Given the description of an element on the screen output the (x, y) to click on. 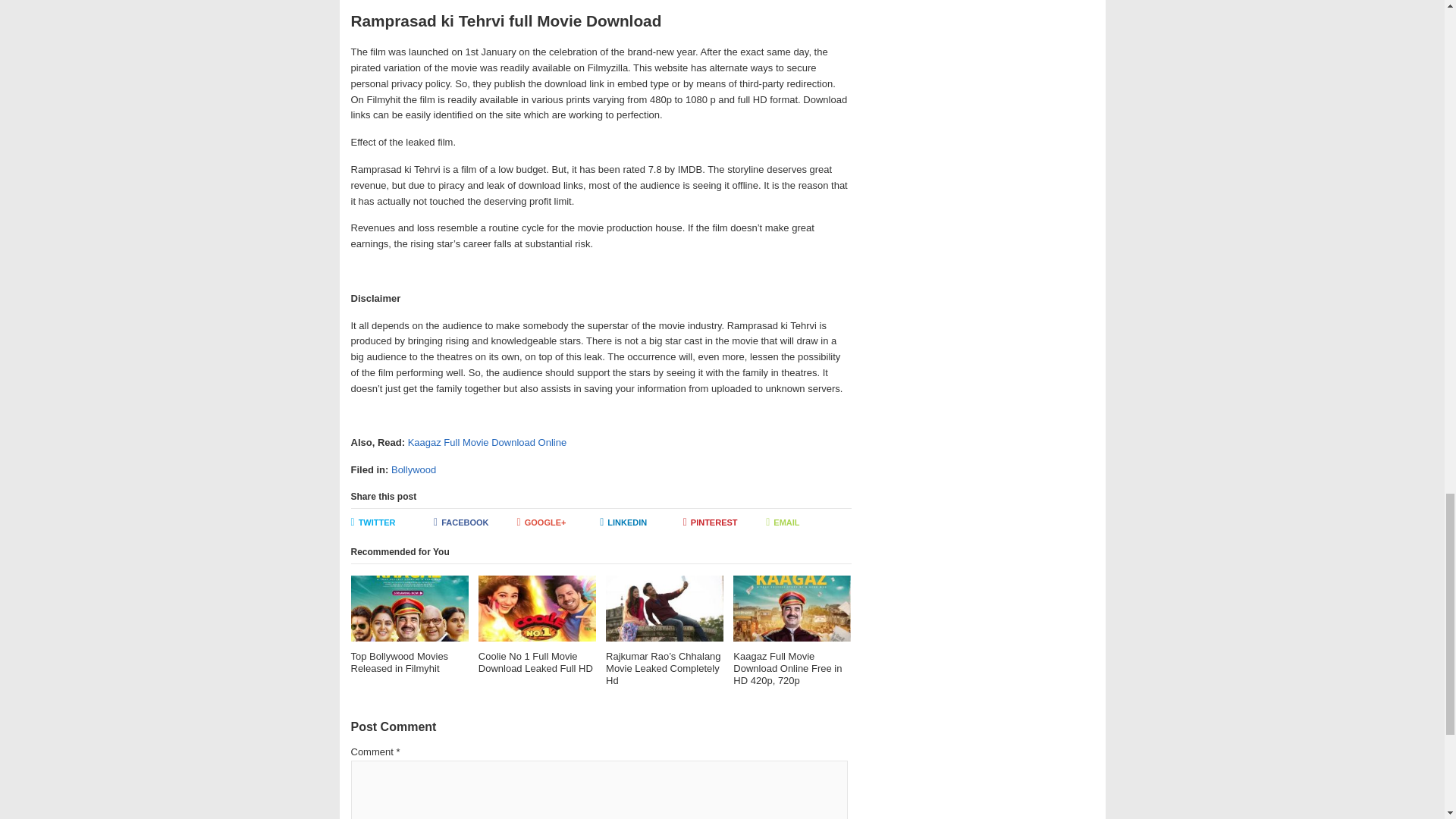
Bollywood (413, 469)
Kaagaz Full Movie Download Online Free in HD 420p, 720p (791, 631)
FACEBOOK (474, 522)
LINKEDIN (640, 522)
PINTEREST (724, 522)
Kaagaz Full Movie Download Online (487, 441)
EMAIL (806, 522)
Coolie No 1 Full Movie Download Leaked Full HD (537, 624)
TWITTER (391, 522)
Top Bollywood Movies Released in Filmyhit (408, 624)
